Given the description of an element on the screen output the (x, y) to click on. 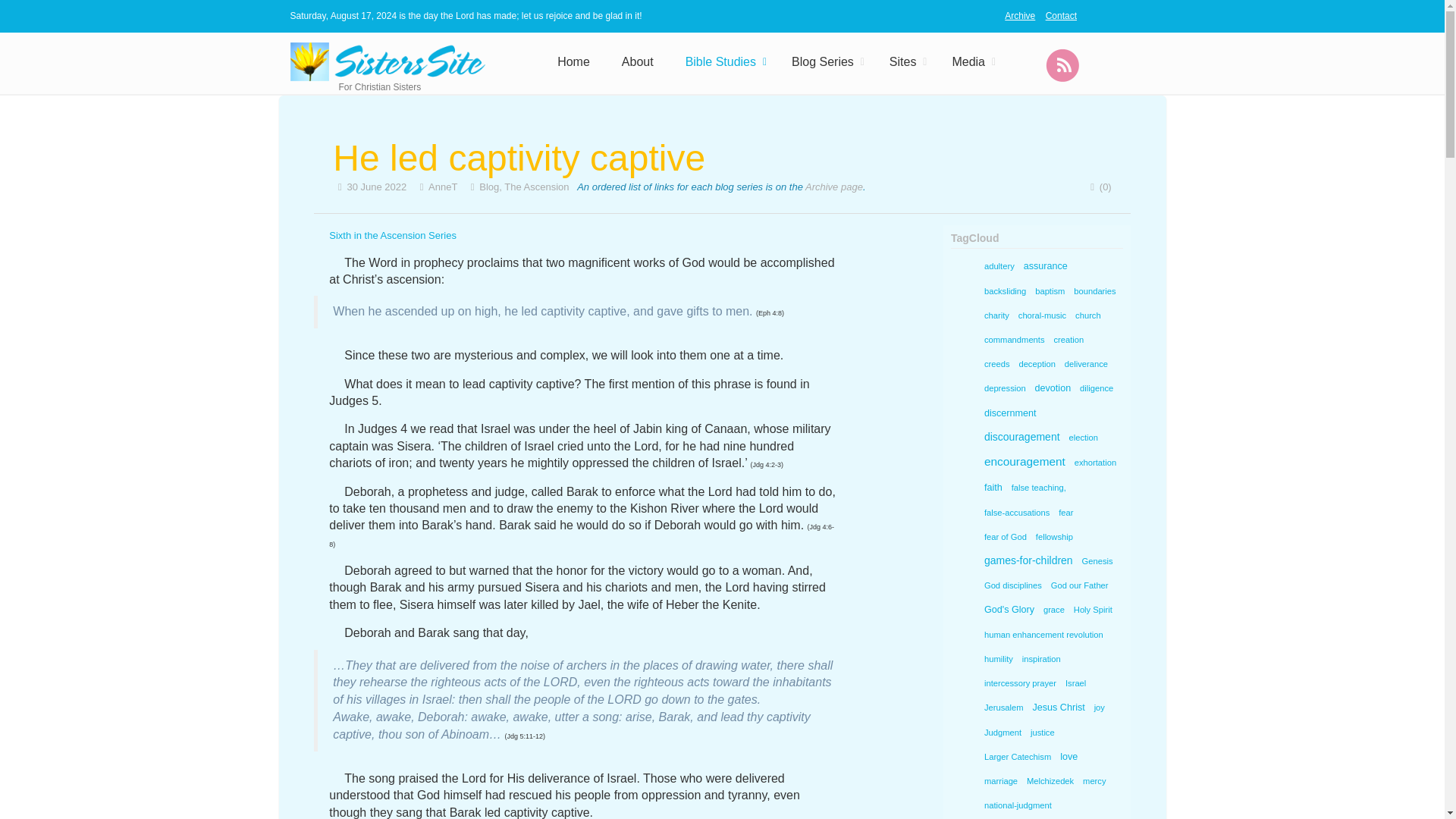
Tag: church (1088, 315)
Tag: backsliding (1004, 290)
Media (970, 61)
Tag: boundaries (1094, 290)
Tag: adultery (998, 265)
Sites (905, 61)
Tag: creation (1068, 339)
Home (573, 61)
Tag: commandments (1013, 339)
Archive (1019, 15)
